Given the description of an element on the screen output the (x, y) to click on. 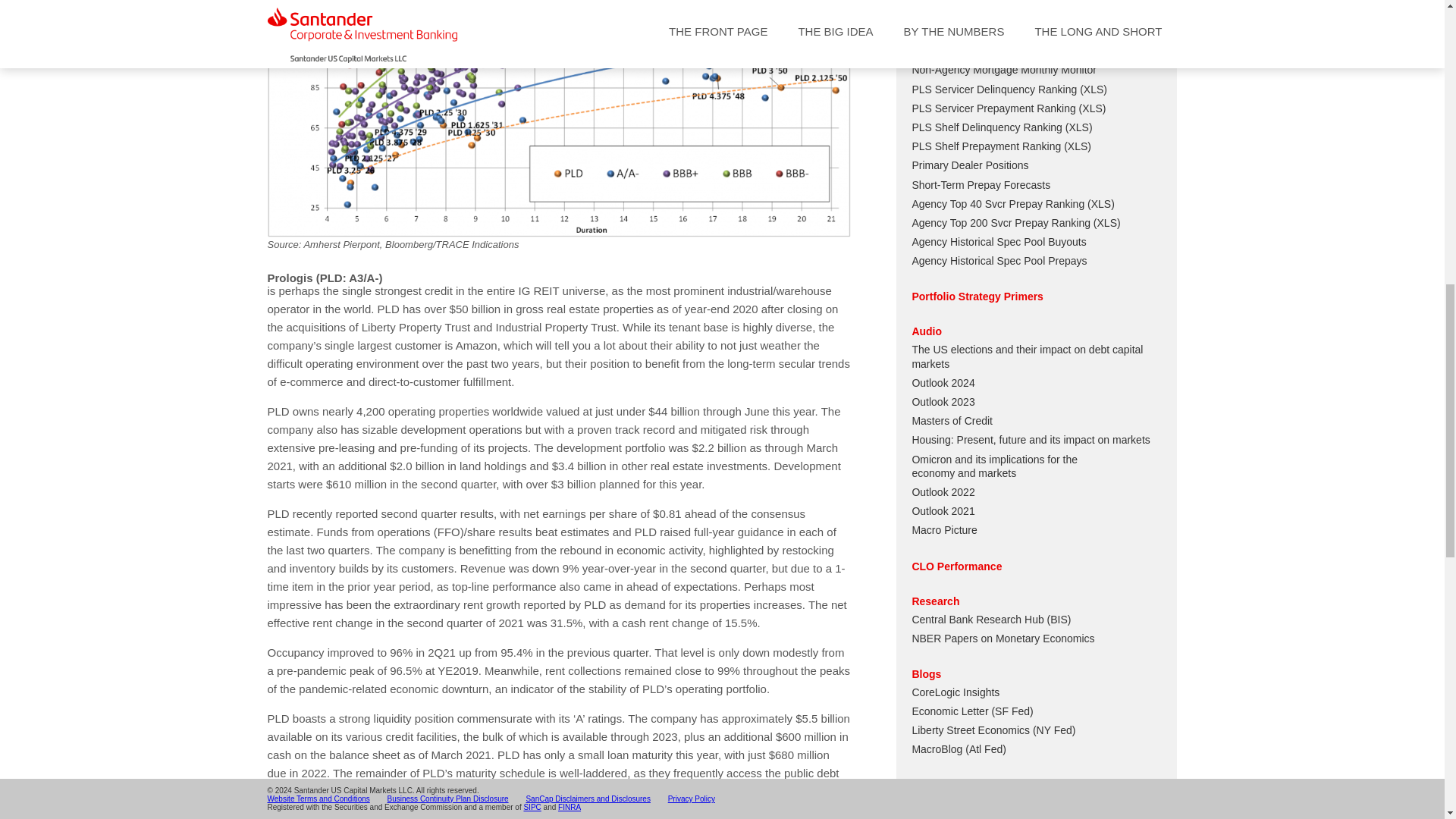
Primary Dealer Positions (969, 164)
Non-Agency Mortgage Monthly Monitor (1003, 69)
XLS (1093, 89)
PLS Servicer Delinquency Ranking (994, 89)
PLS Servicer Prepayment Ranking (993, 108)
XLS (1077, 146)
Ginnie Mae Project Loan Prepays (990, 31)
XLS (1091, 108)
XLS (1077, 127)
Latest Prepay Results (962, 50)
PLS Shelf Delinquency Ranking (986, 127)
PLS Shelf Prepayment Ranking (986, 146)
Front End Monitor (953, 12)
